Given the description of an element on the screen output the (x, y) to click on. 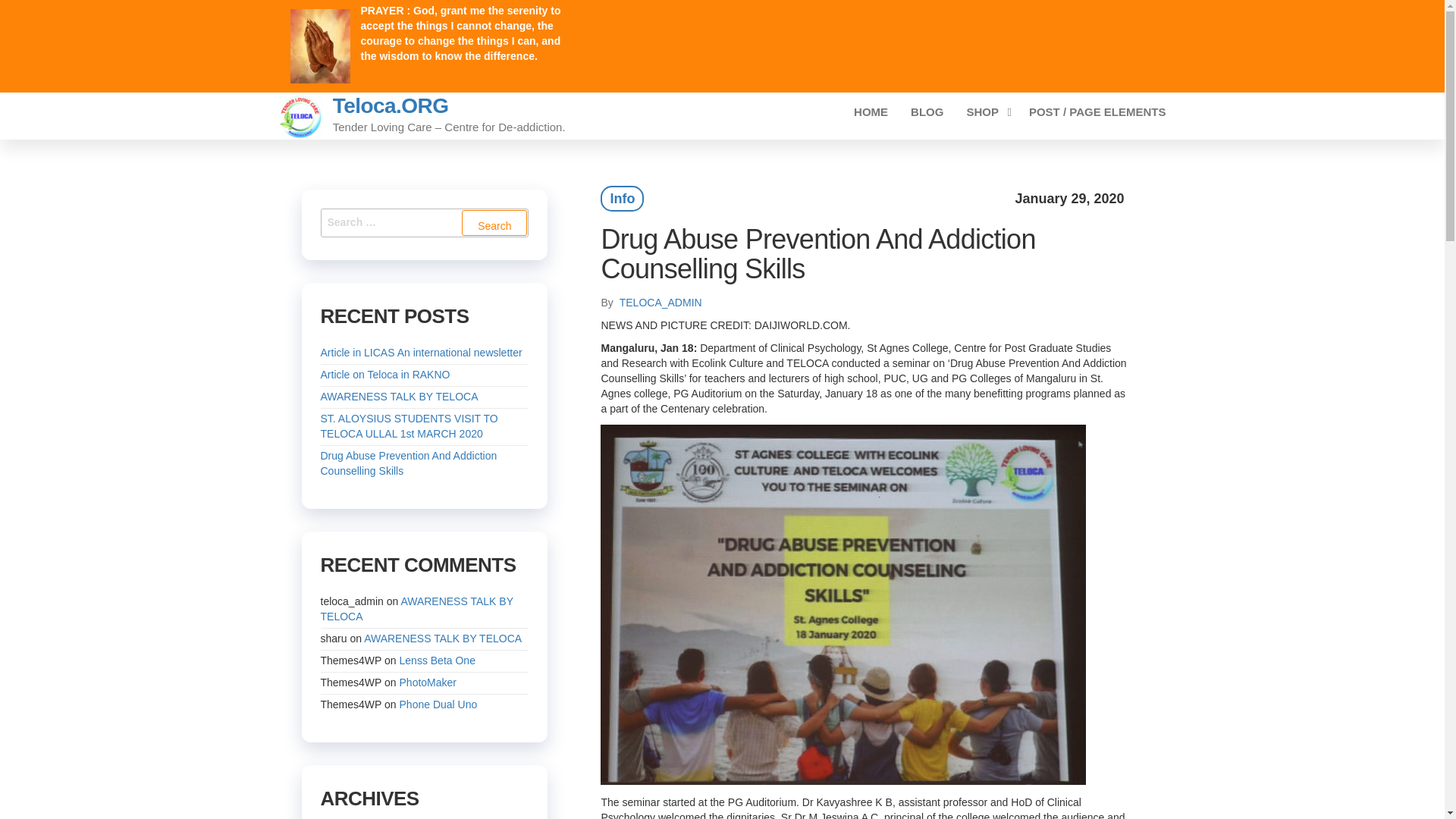
SHOP (986, 112)
HOME (871, 112)
ST. ALOYSIUS STUDENTS VISIT TO TELOCA ULLAL 1st MARCH 2020 (408, 425)
Drug Abuse Prevention And Addiction Counselling Skills (408, 462)
AWARENESS TALK BY TELOCA (416, 608)
Search (494, 222)
Info (621, 198)
Shop (986, 112)
AWARENESS TALK BY TELOCA (398, 396)
Article on Teloca in RAKNO (384, 374)
Search (494, 222)
Lenss Beta One (437, 660)
BLOG (927, 112)
PhotoMaker (427, 682)
Article in LICAS An international newsletter (420, 352)
